Given the description of an element on the screen output the (x, y) to click on. 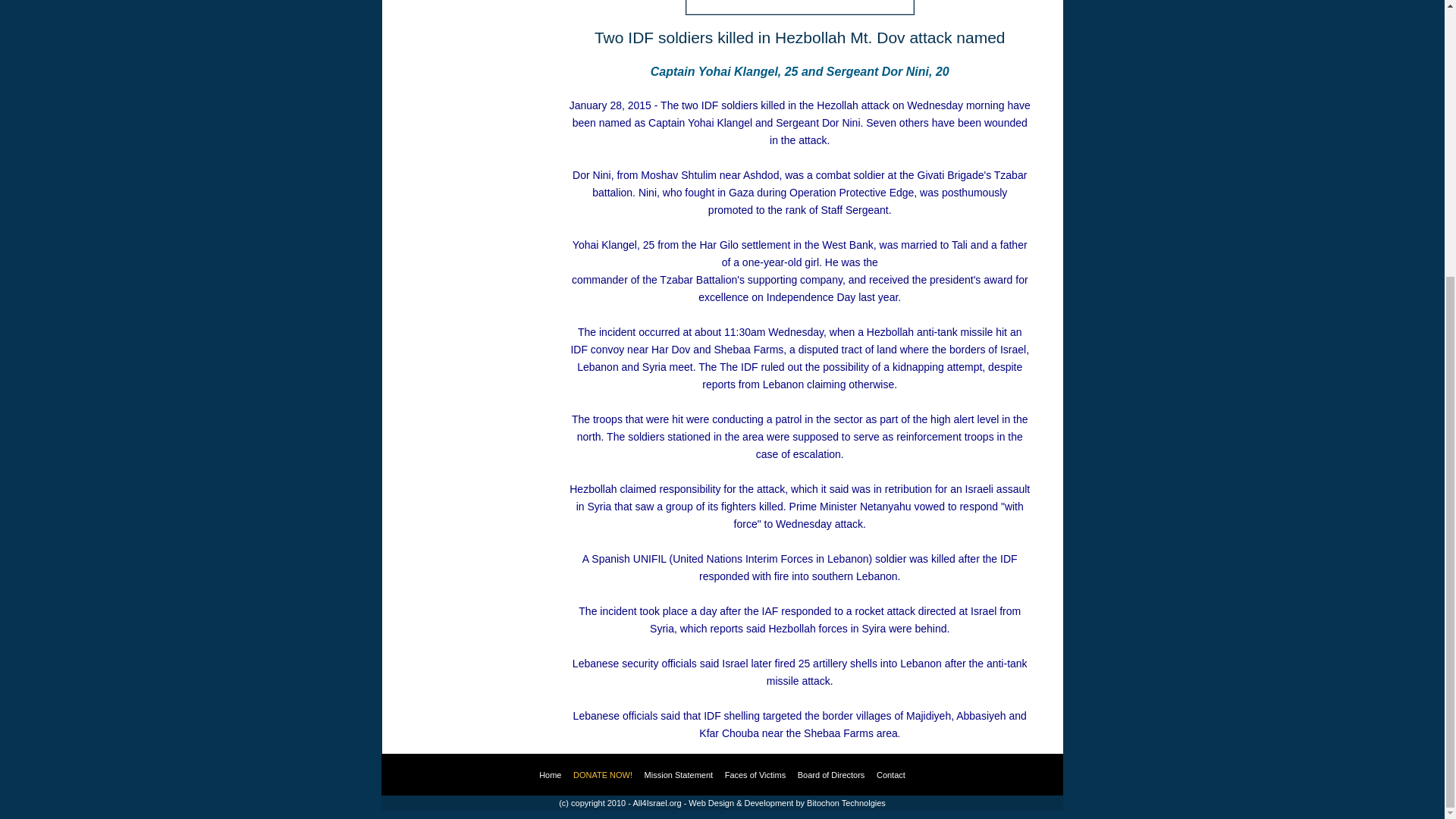
Board of Directors (830, 774)
Contact (890, 774)
Mission Statement (679, 774)
Faces of Victims (755, 774)
Home (549, 774)
DONATE NOW! (602, 774)
